Given the description of an element on the screen output the (x, y) to click on. 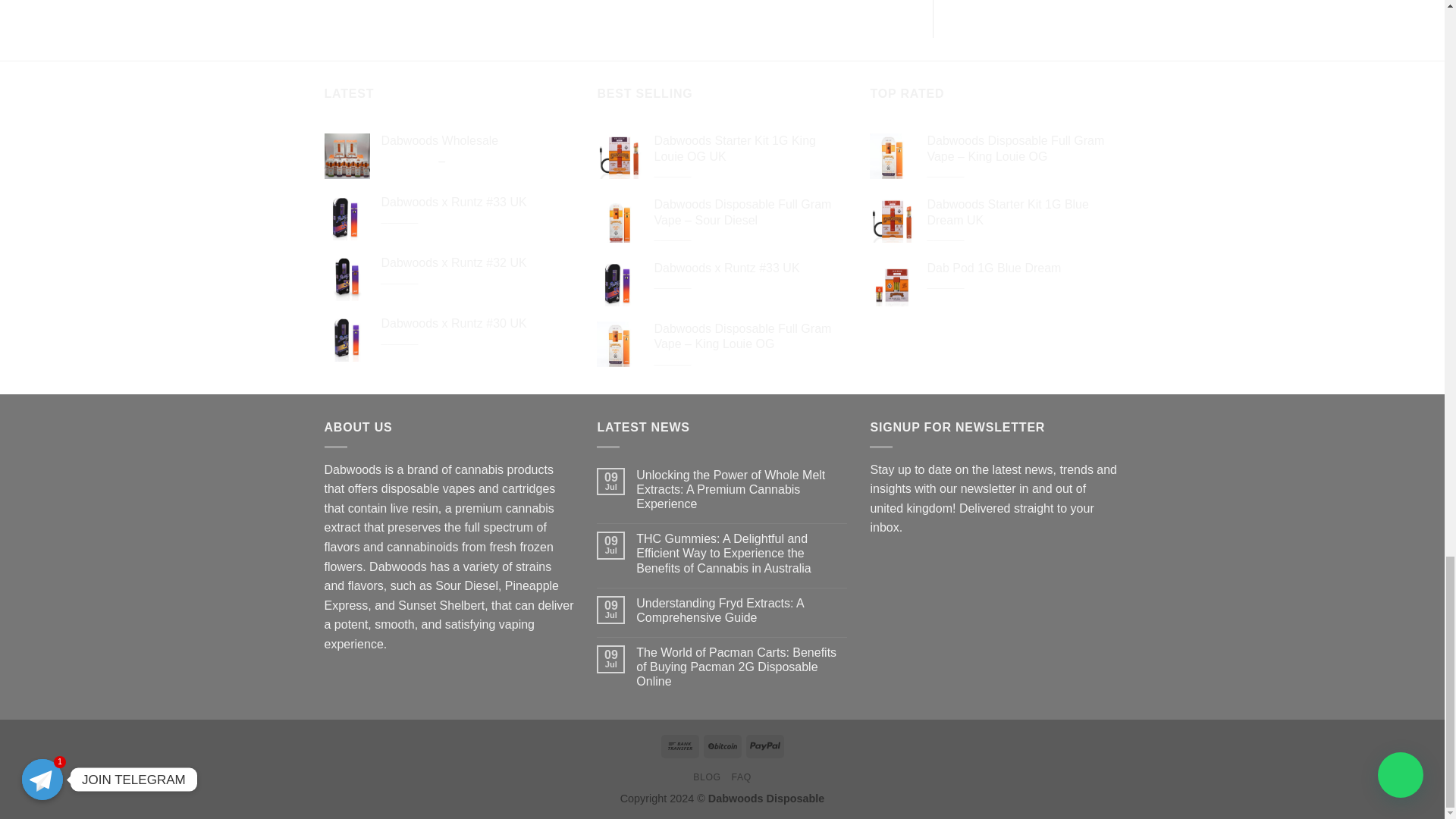
Understanding Fryd Extracts: A Comprehensive Guide (741, 610)
